Given the description of an element on the screen output the (x, y) to click on. 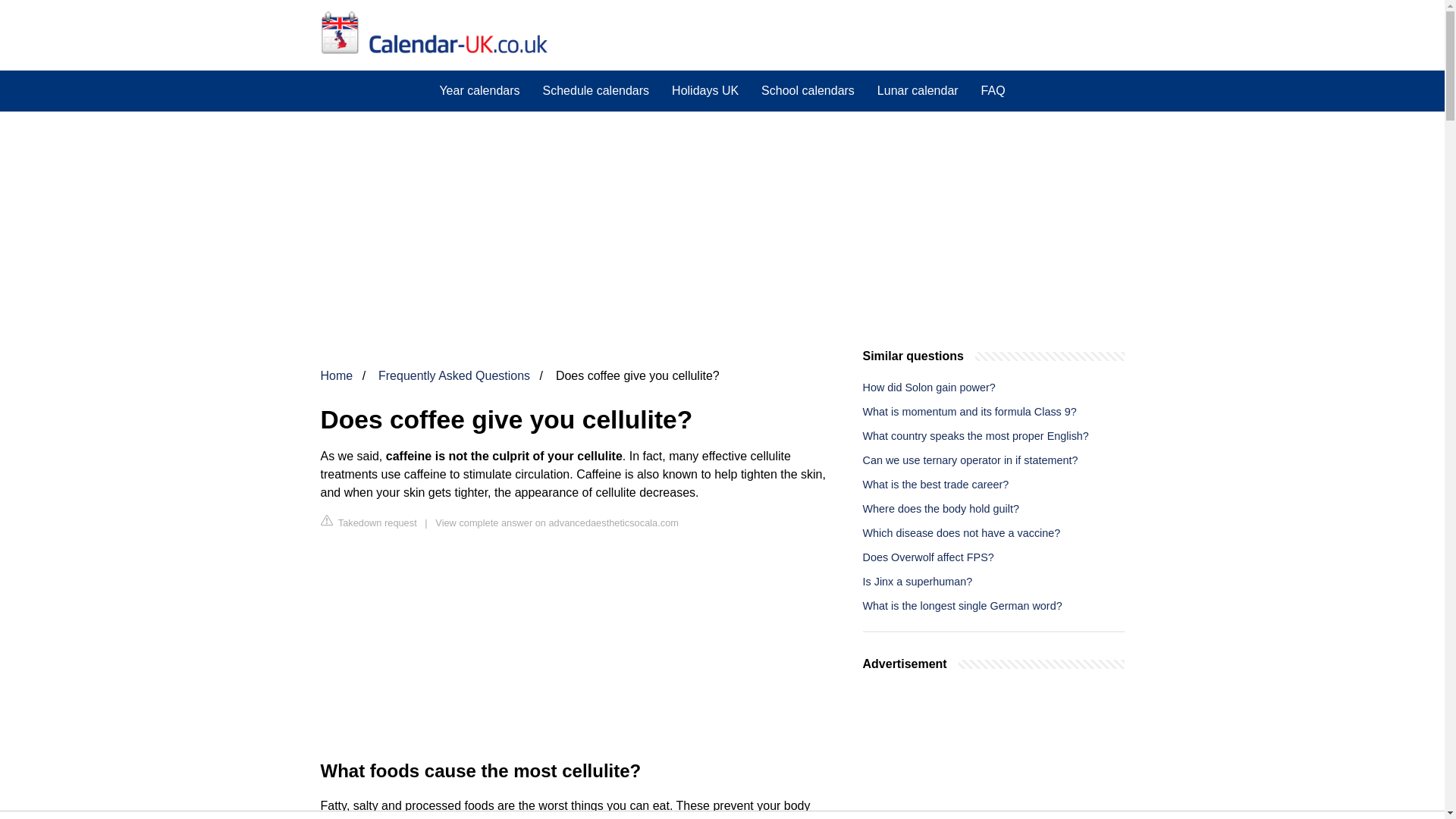
Takedown request (368, 521)
Home (336, 375)
Frequently Asked Questions (453, 375)
FAQ (992, 90)
School calendars (807, 90)
Year calendars (479, 90)
Schedule calendars (596, 90)
Lunar calendar (917, 90)
Holidays UK (705, 90)
View complete answer on advancedaestheticsocala.com (556, 522)
